Given the description of an element on the screen output the (x, y) to click on. 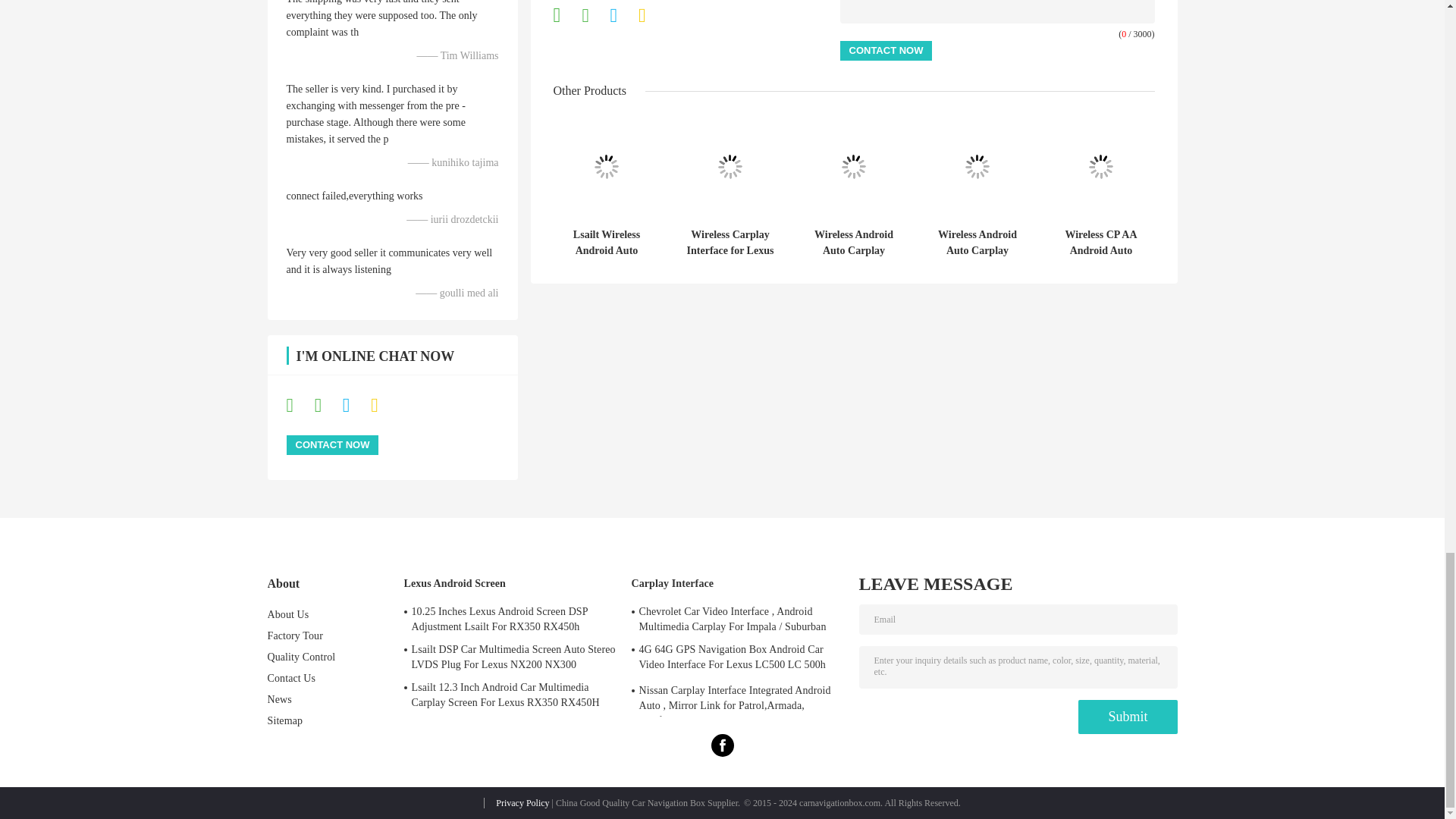
Submit (1127, 716)
Contact Now (332, 444)
Contact Now (886, 50)
